Given the description of an element on the screen output the (x, y) to click on. 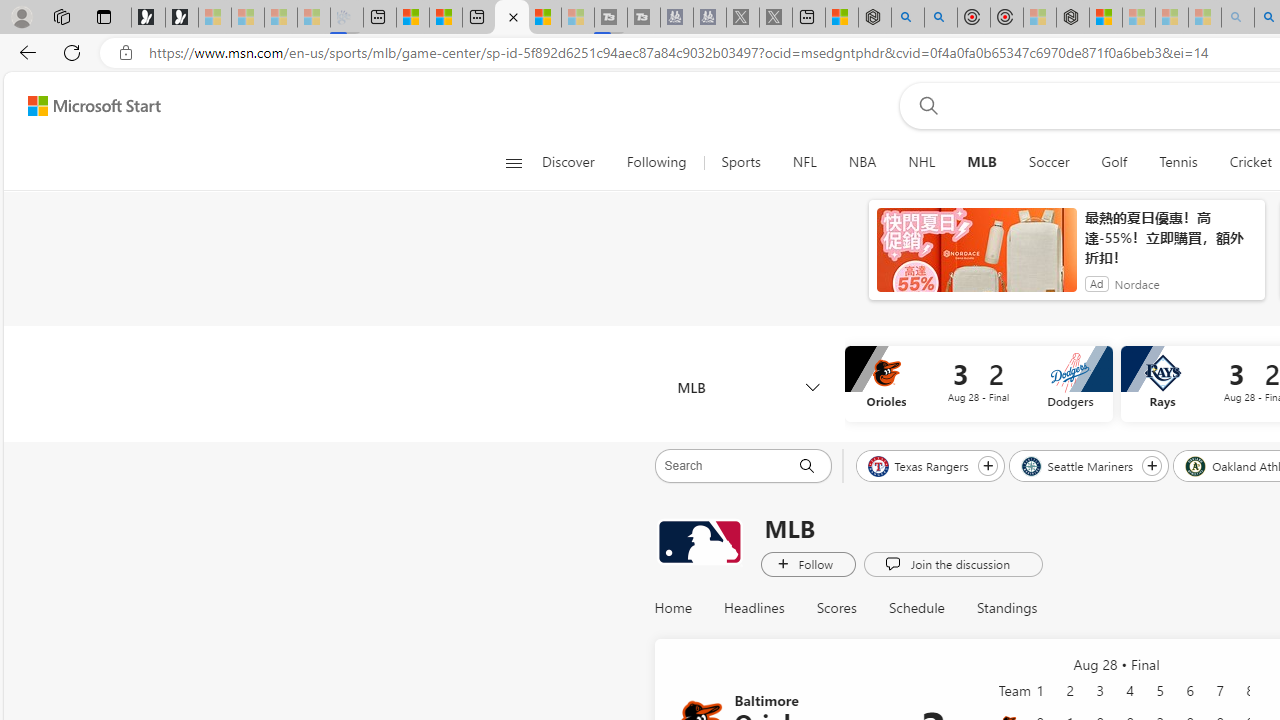
Class: button-glyph (513, 162)
NFL (804, 162)
Schedule (916, 607)
NBA (861, 162)
MLB (699, 543)
